Given the description of an element on the screen output the (x, y) to click on. 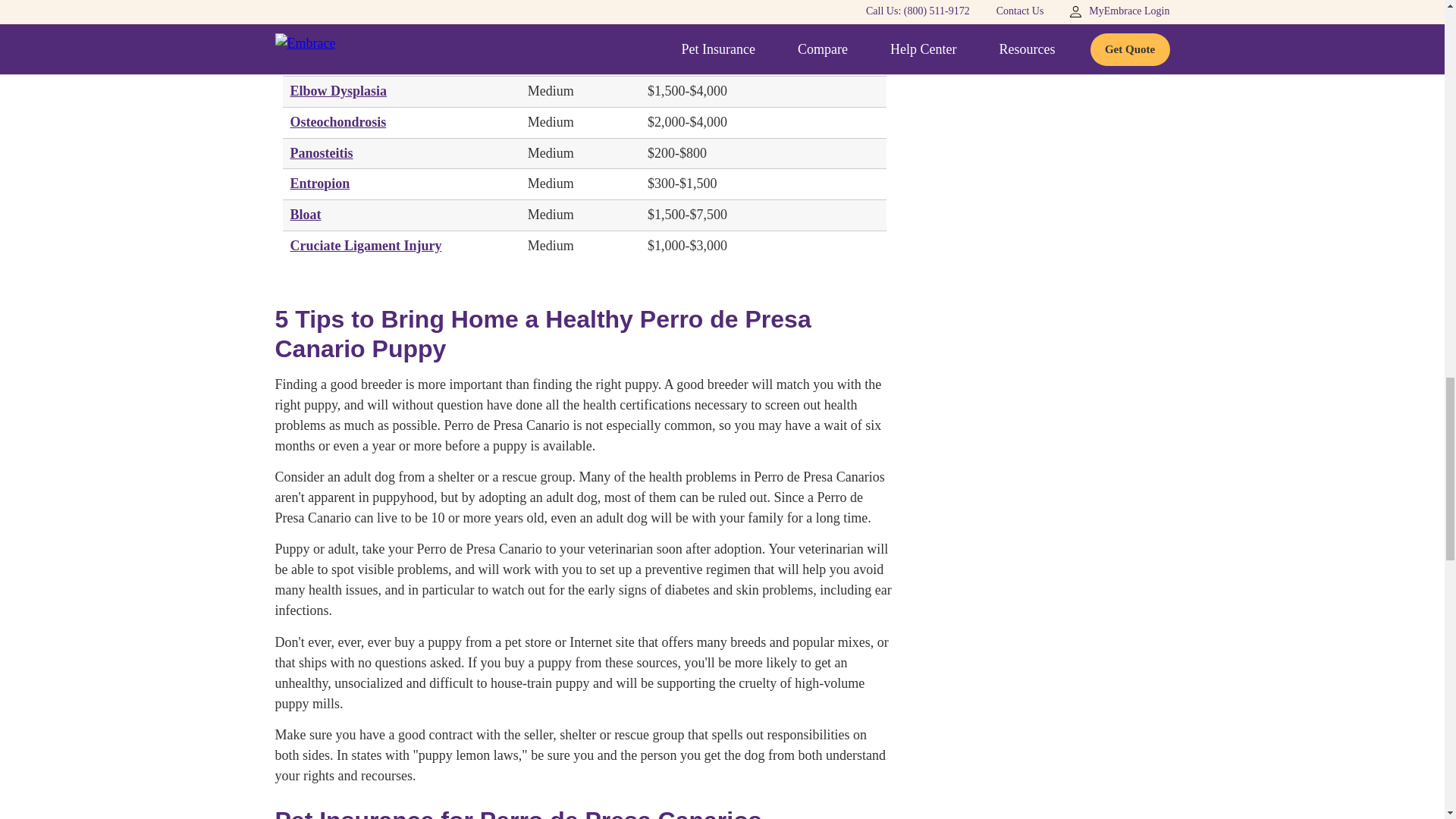
Osteochondrosis (337, 121)
Hip Dysplasia (330, 59)
Panosteitis (320, 152)
Elbow Dysplasia (338, 90)
Entropion (319, 183)
Cruciate Ligament Injury (365, 245)
